Given the description of an element on the screen output the (x, y) to click on. 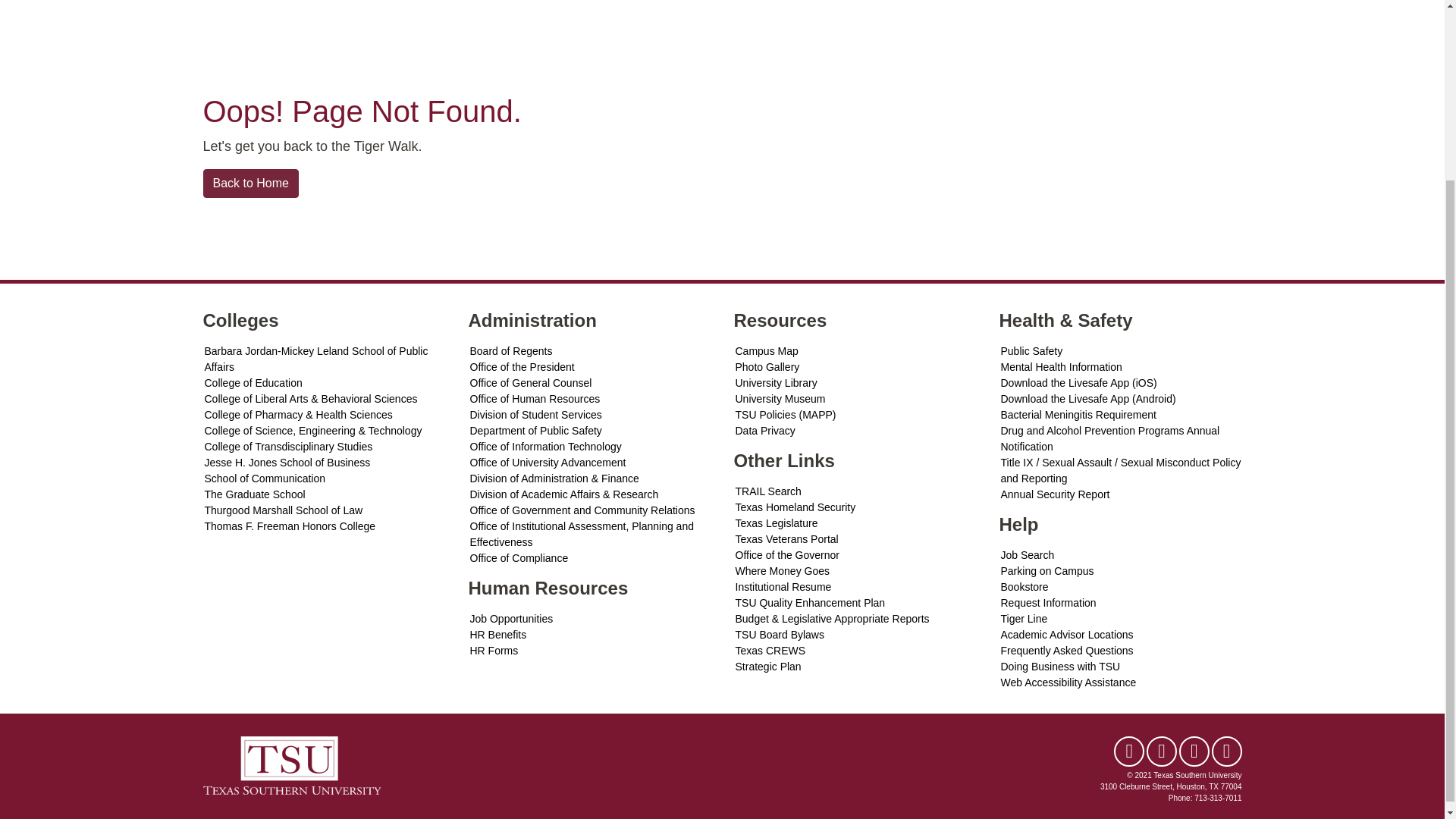
Link To the Jesse H Jones School of Business Website (324, 462)
Link To The Graduate School Website (324, 494)
Link To Thurgood Marshall School of Law Website (324, 510)
Link To the School of Communication Website (324, 478)
Link To the College of Pharmacy and Health Sciences  Website (324, 415)
Link To the College of Education Website (324, 383)
